Given the description of an element on the screen output the (x, y) to click on. 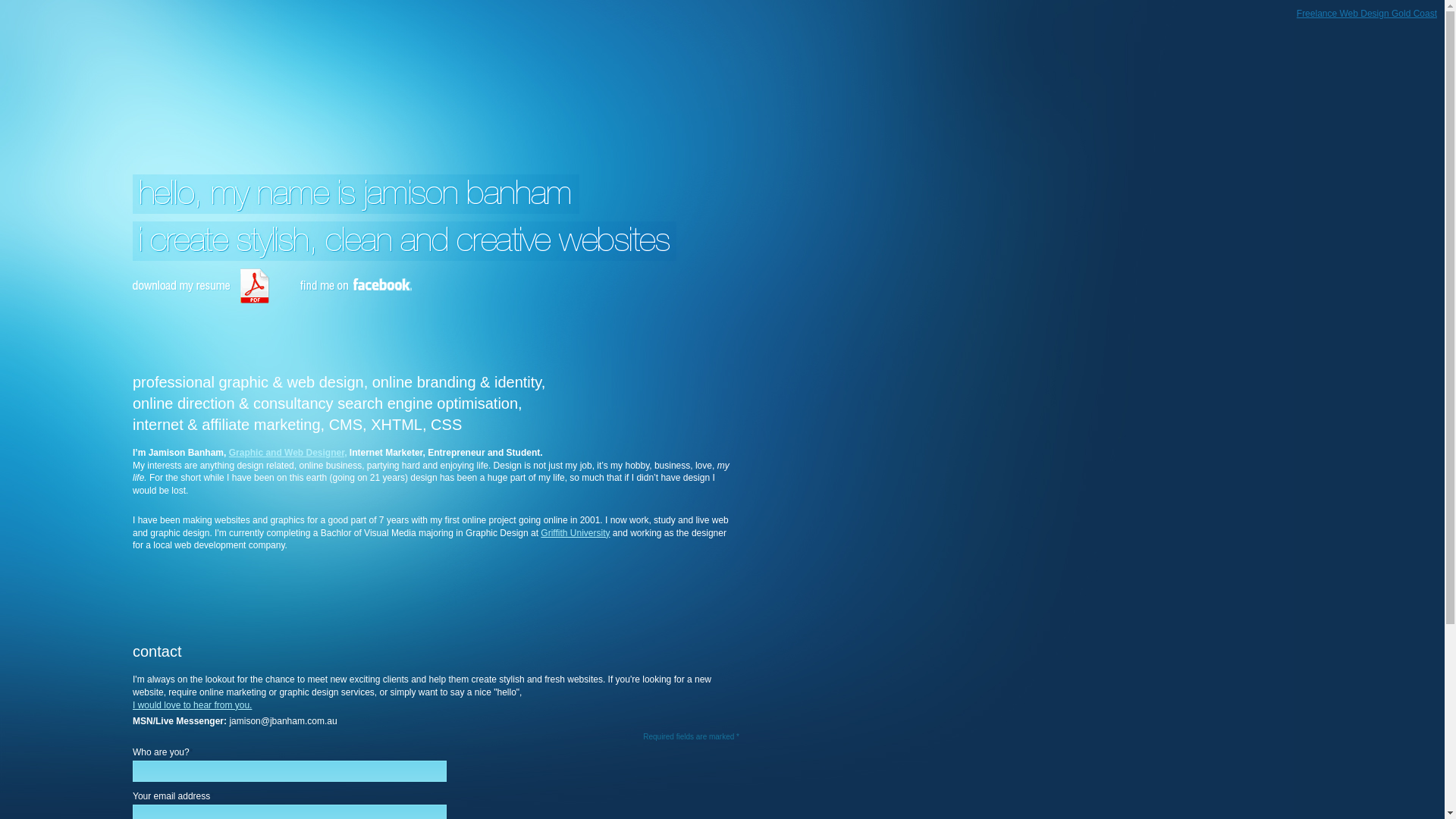
Freelance Web Design Gold Coast Element type: text (1366, 13)
I would love to hear from you. Element type: text (191, 704)
Griffith University Element type: text (574, 532)
Graphic and Web Designer, Element type: text (288, 452)
